Given the description of an element on the screen output the (x, y) to click on. 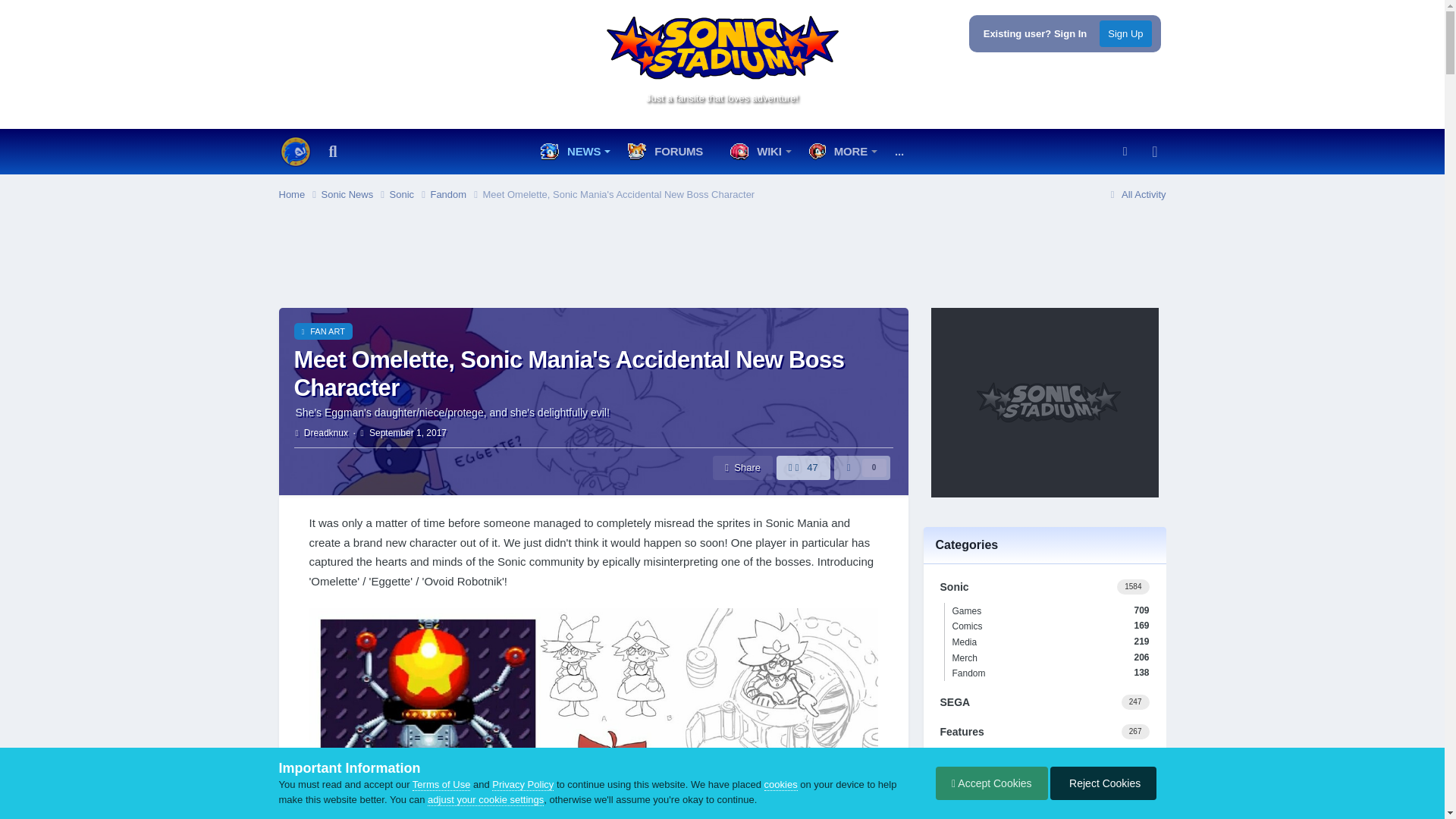
68 (1103, 189)
Existing user? Sign In (1035, 33)
NEWS (573, 151)
Try Our New Homepage... (295, 151)
Sign Up (1125, 33)
